Given the description of an element on the screen output the (x, y) to click on. 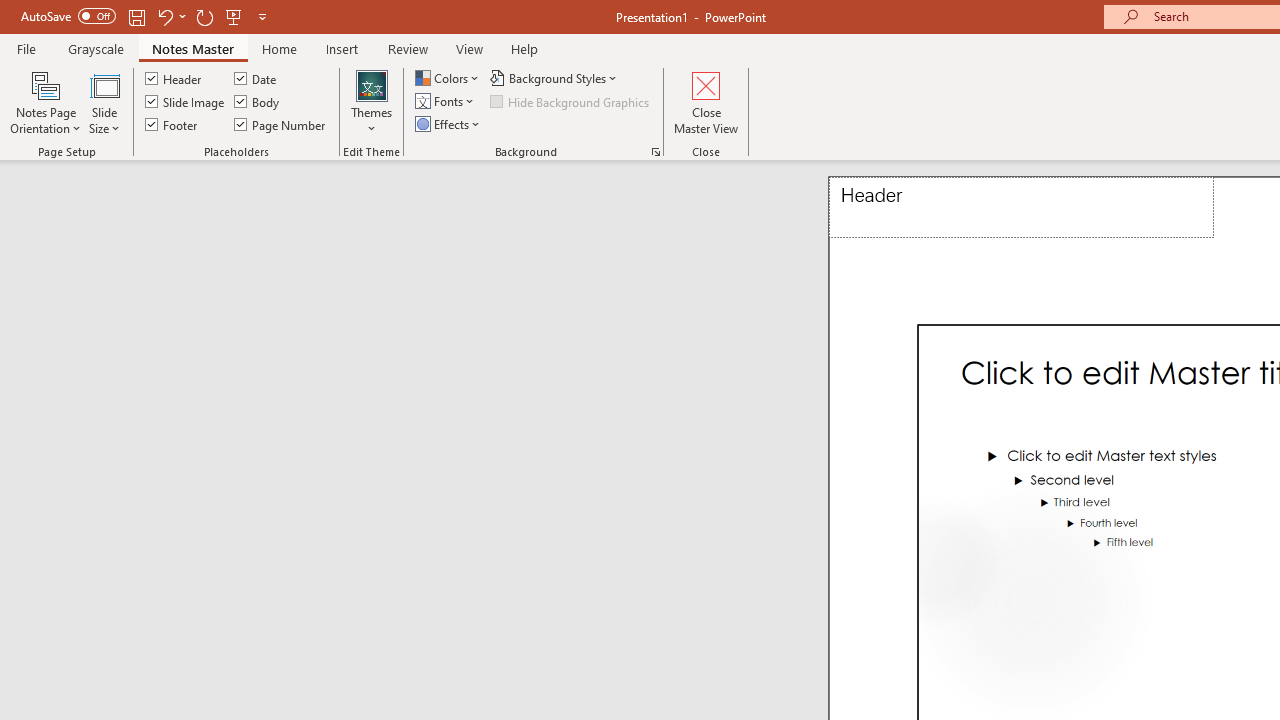
Notes Master (193, 48)
Slide Size (104, 102)
Slide Image (186, 101)
Page Number (280, 124)
Background Styles (555, 78)
Body (257, 101)
Close Master View (706, 102)
Date (256, 78)
Footer (172, 124)
